Given the description of an element on the screen output the (x, y) to click on. 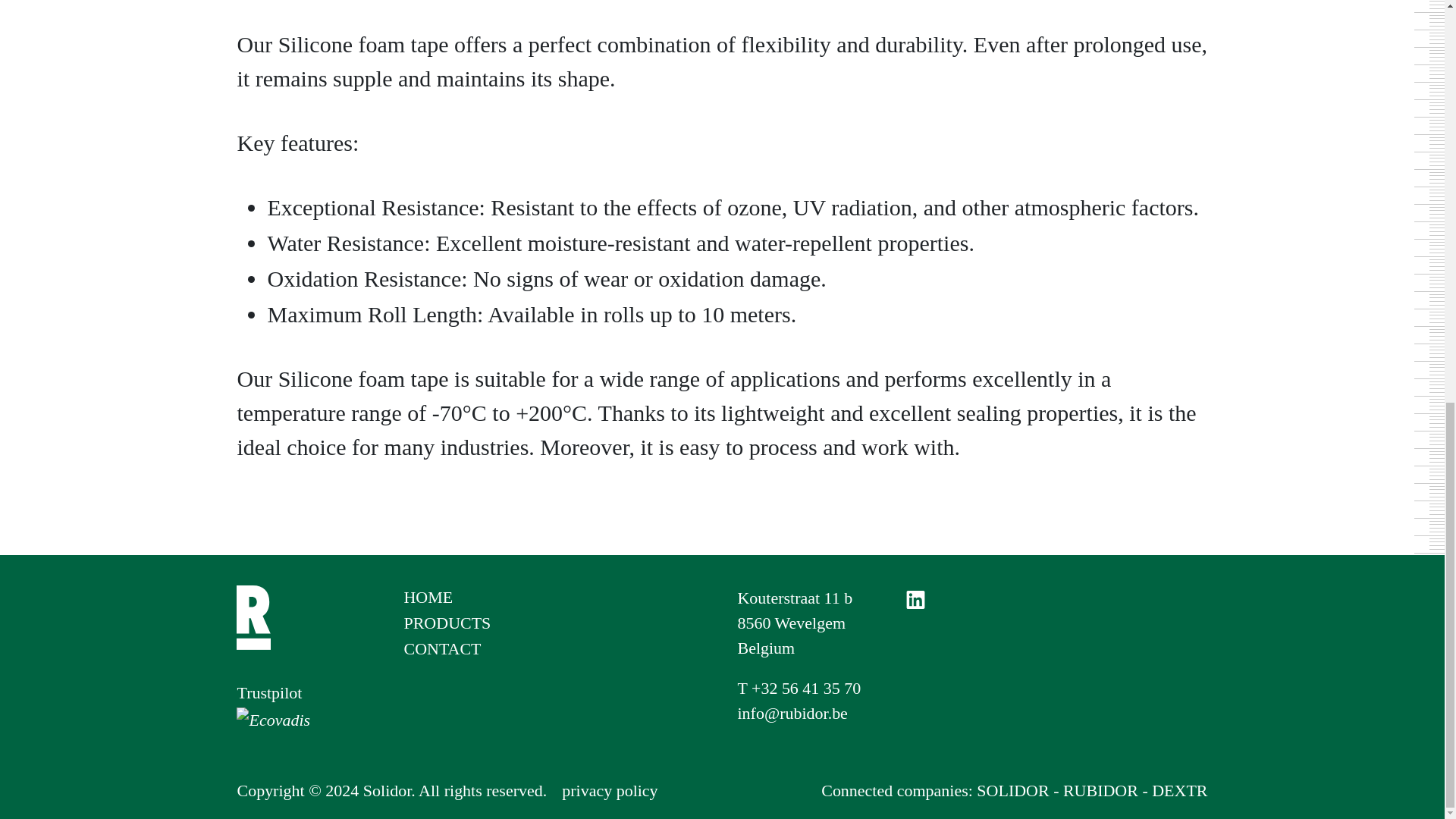
Trustpilot (268, 692)
SOLIDOR (793, 623)
CONTACT (1012, 790)
privacy policy (441, 648)
DEXTR (610, 790)
HOME (1179, 790)
PRODUCTS (427, 597)
